Given the description of an element on the screen output the (x, y) to click on. 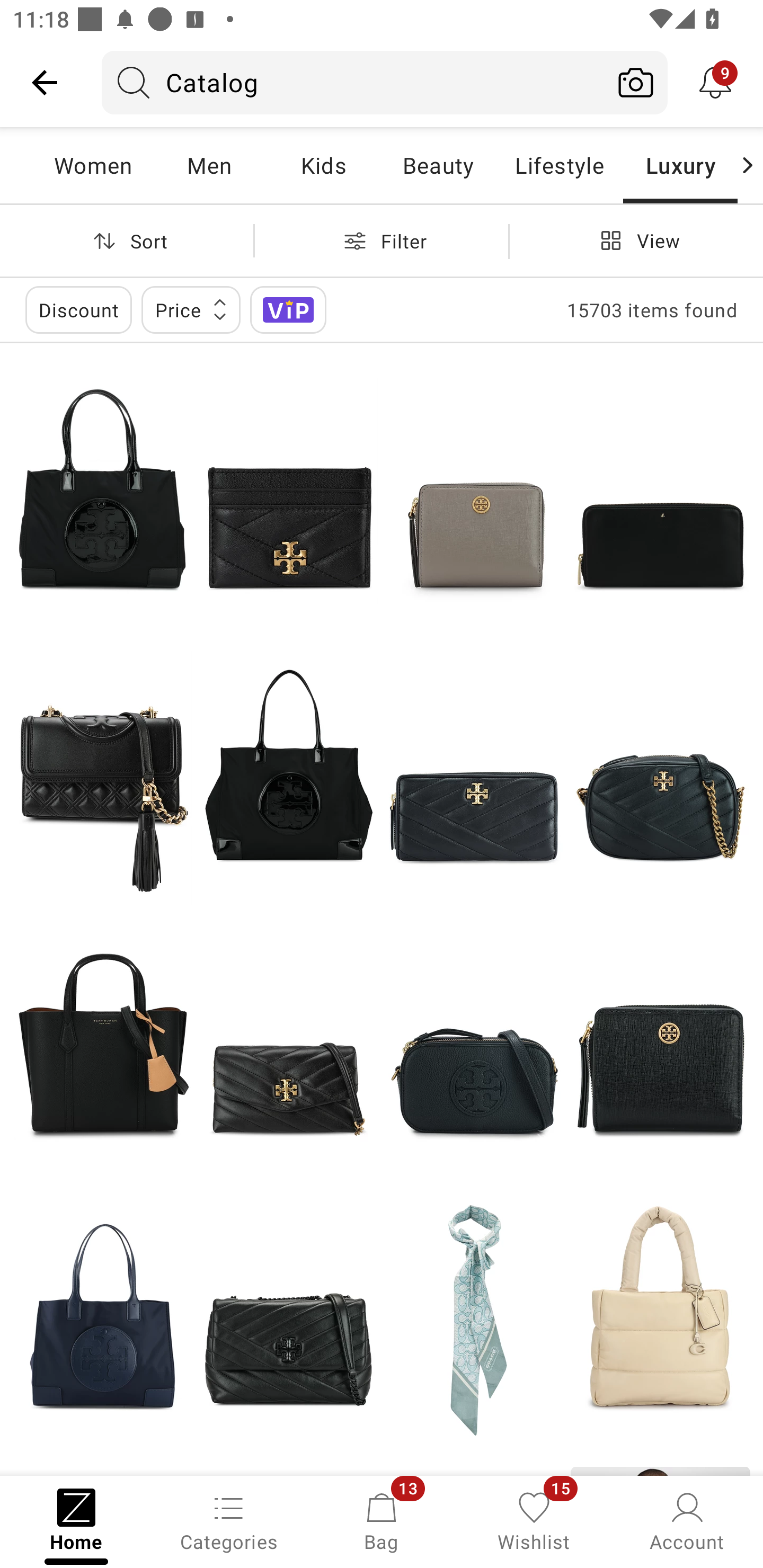
Navigate up (44, 82)
Catalog (352, 82)
Women (92, 165)
Men (208, 165)
Kids (323, 165)
Beauty (437, 165)
Lifestyle (559, 165)
Sort (126, 240)
Filter (381, 240)
View (636, 240)
Discount (78, 309)
Price (190, 309)
Categories (228, 1519)
Bag, 13 new notifications Bag (381, 1519)
Wishlist, 15 new notifications Wishlist (533, 1519)
Account (686, 1519)
